Given the description of an element on the screen output the (x, y) to click on. 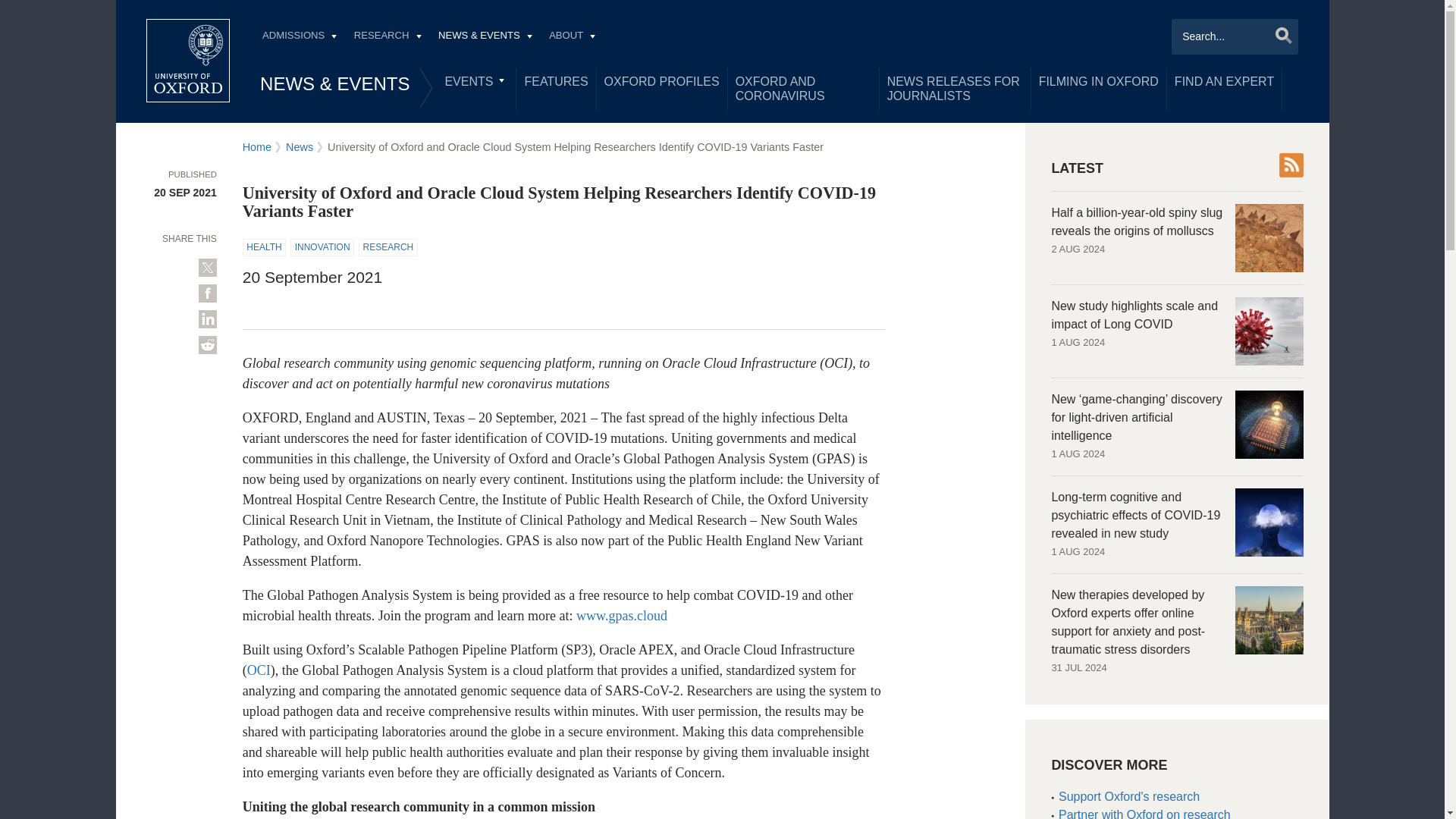
Home (188, 60)
Search (1279, 35)
EVENTS (475, 81)
Enter the terms you wish to search for. (1235, 36)
OXFORD PROFILES (661, 81)
OXFORD AND CORONAVIRUS (803, 88)
ABOUT (571, 37)
Home (188, 60)
RESEARCH (387, 37)
NEWS RELEASES FOR JOURNALISTS (954, 88)
FEATURES (555, 81)
Search (1279, 35)
ADMISSIONS (298, 37)
